Given the description of an element on the screen output the (x, y) to click on. 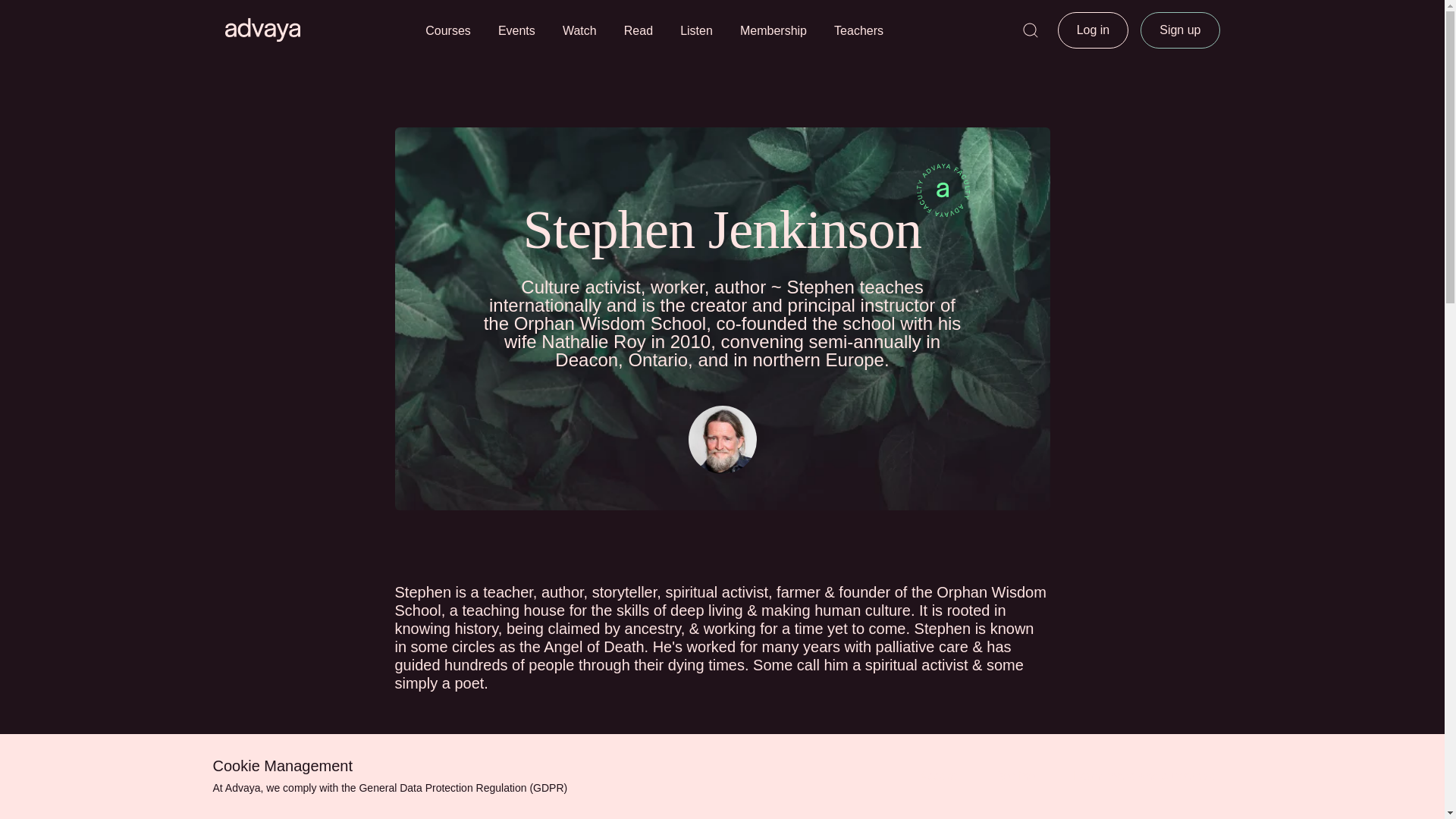
Learn more and customize (1144, 776)
Read (638, 30)
Log in (1093, 30)
Decline (1014, 776)
Watch (579, 30)
Courses (447, 30)
Listen (696, 30)
Accept (938, 776)
Search (1029, 30)
Teachers (858, 30)
Membership (772, 30)
Sign up (1180, 30)
Events (516, 30)
